Given the description of an element on the screen output the (x, y) to click on. 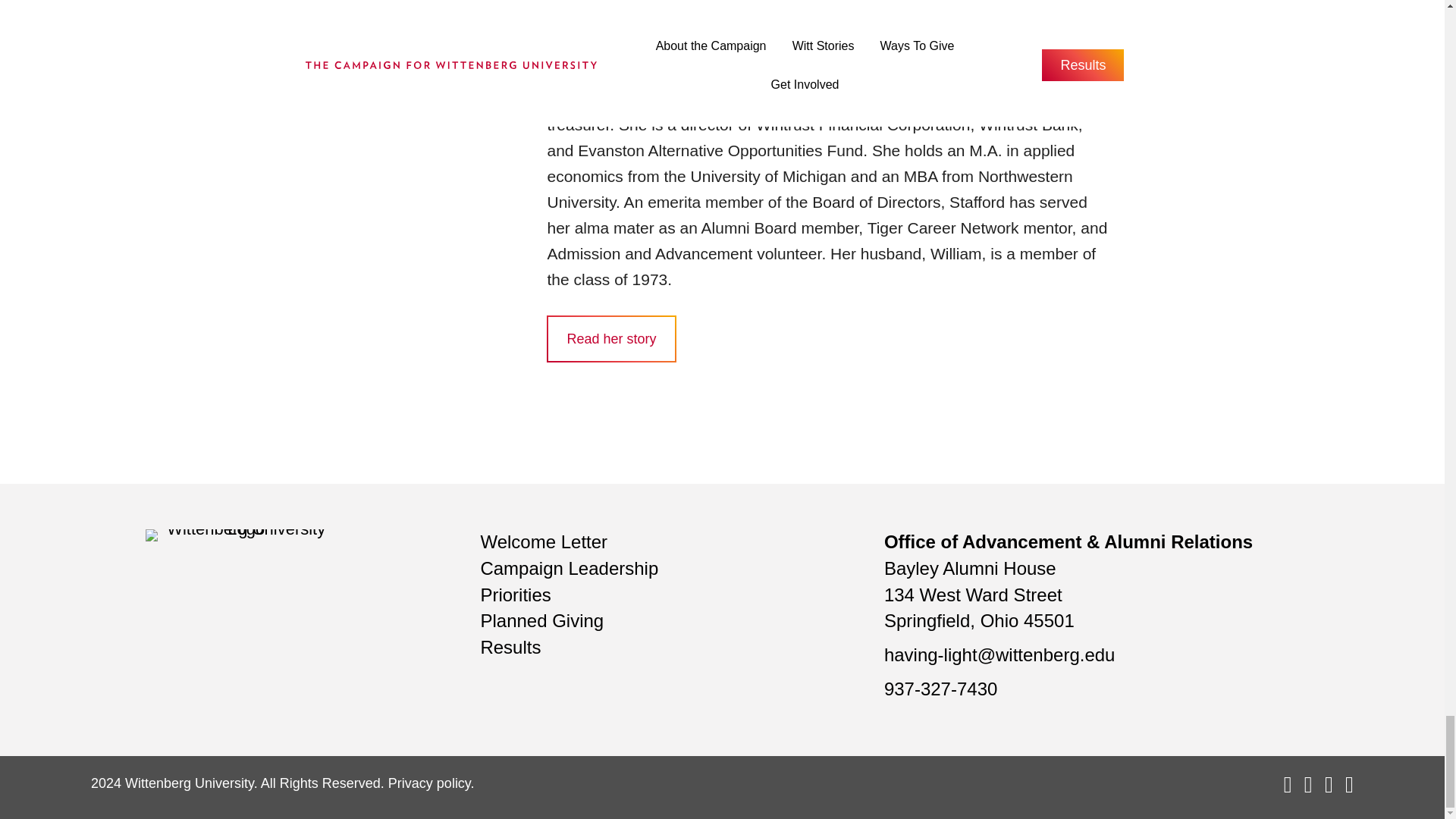
Privacy policy. (431, 783)
Priorities (515, 594)
Welcome Letter (543, 541)
Planned Giving (542, 620)
Results (510, 647)
Campaign Leadership (569, 567)
937-327-7430 (940, 688)
Read her story (611, 338)
IngridSponbergStafford (425, 1)
